Given the description of an element on the screen output the (x, y) to click on. 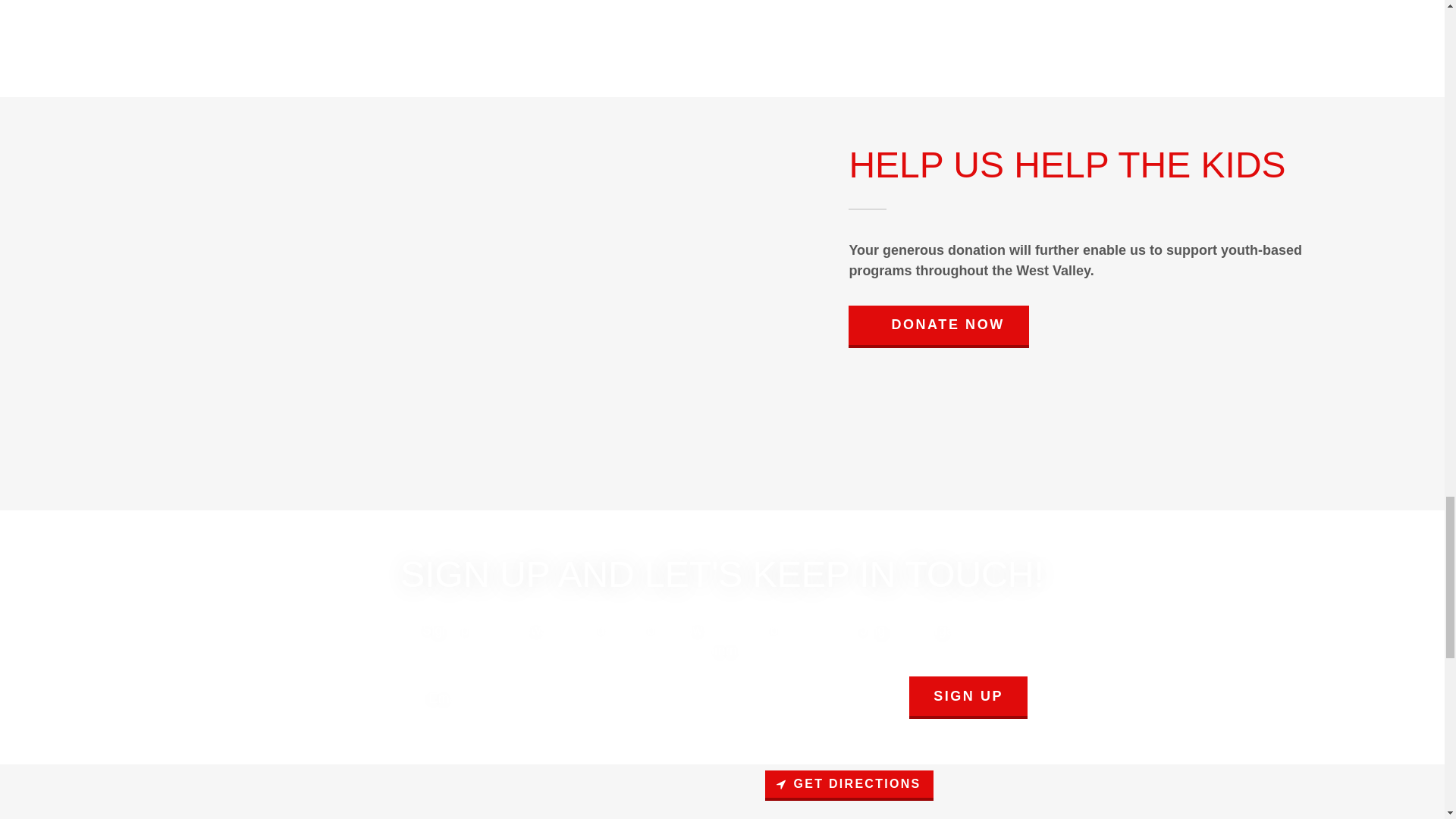
SIGN UP (967, 697)
DONATE NOW (937, 326)
